Given the description of an element on the screen output the (x, y) to click on. 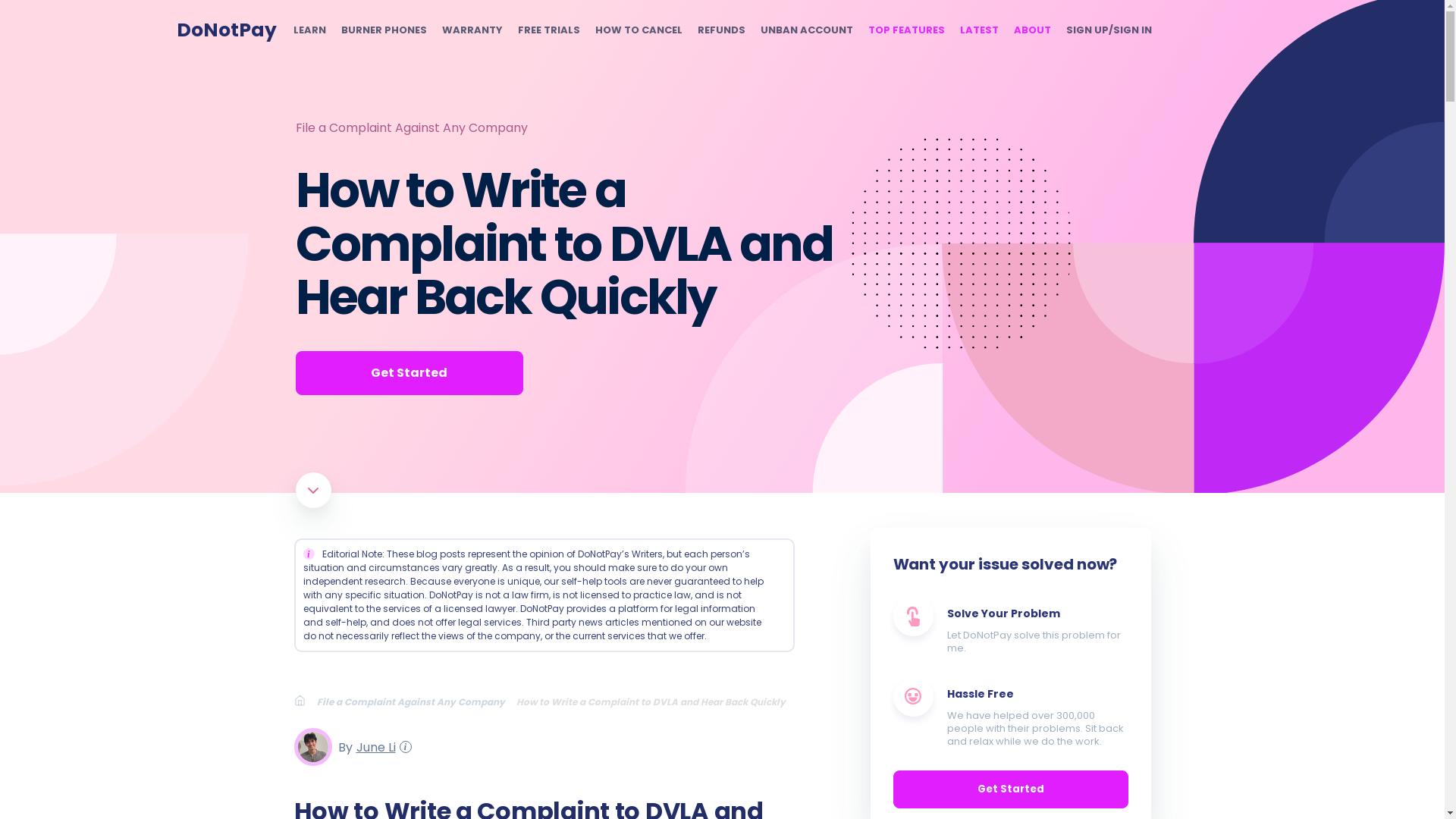
ABOUT (1031, 29)
FREE TRIALS (547, 29)
LEARN (308, 29)
WARRANTY (471, 29)
BURNER PHONES (383, 29)
TOP FEATURES (905, 29)
File a Complaint Against Any Company (416, 700)
File a Complaint Against Any Company (411, 127)
Get Started (408, 372)
June Li (373, 746)
